Given the description of an element on the screen output the (x, y) to click on. 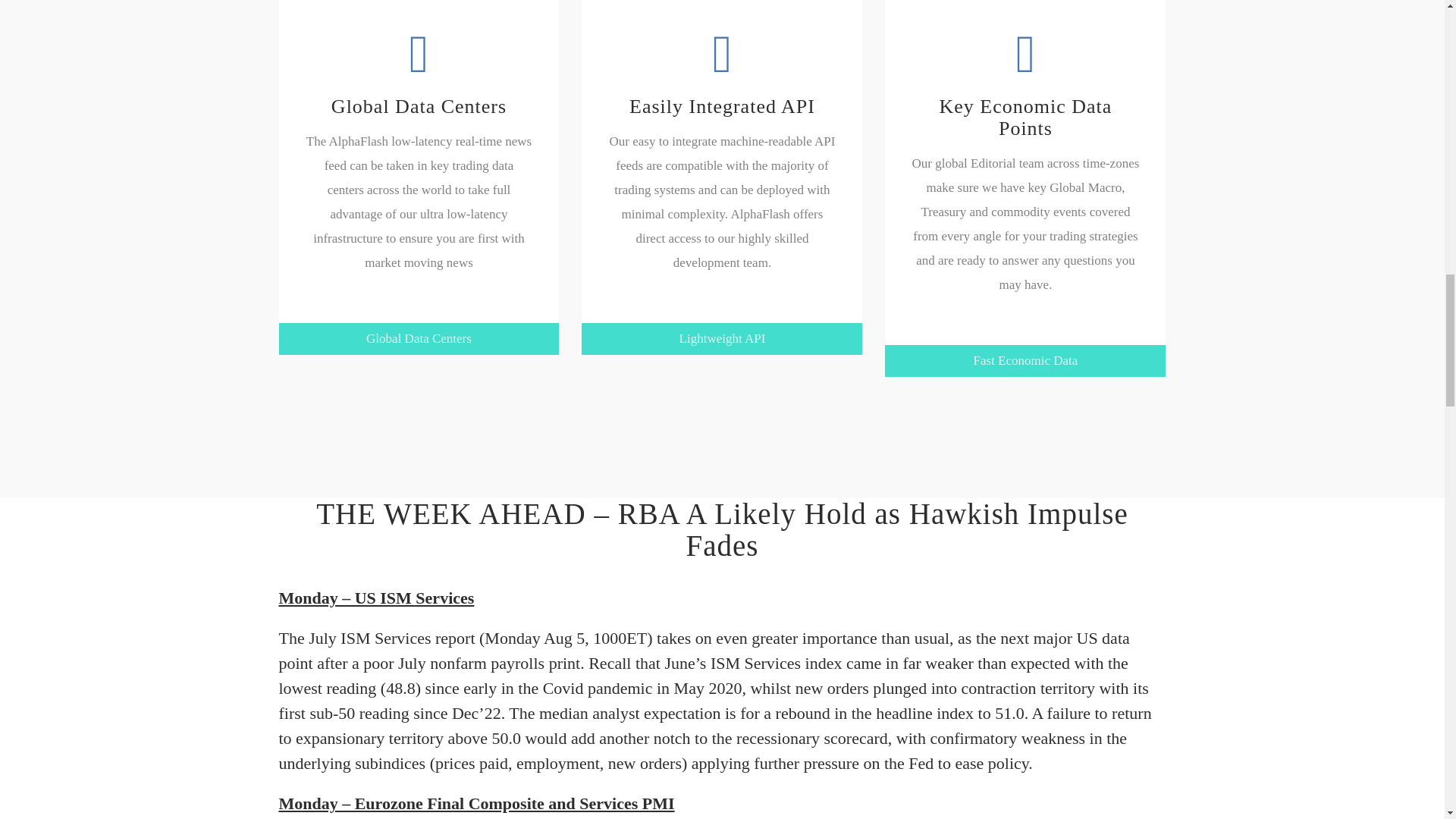
Global Data Centers (418, 70)
Easily Integrated API (721, 70)
Global Data Centers (419, 338)
Key Economic Data Points (1024, 81)
Fast Economic Data (1025, 359)
Lightweight API (720, 338)
